Given the description of an element on the screen output the (x, y) to click on. 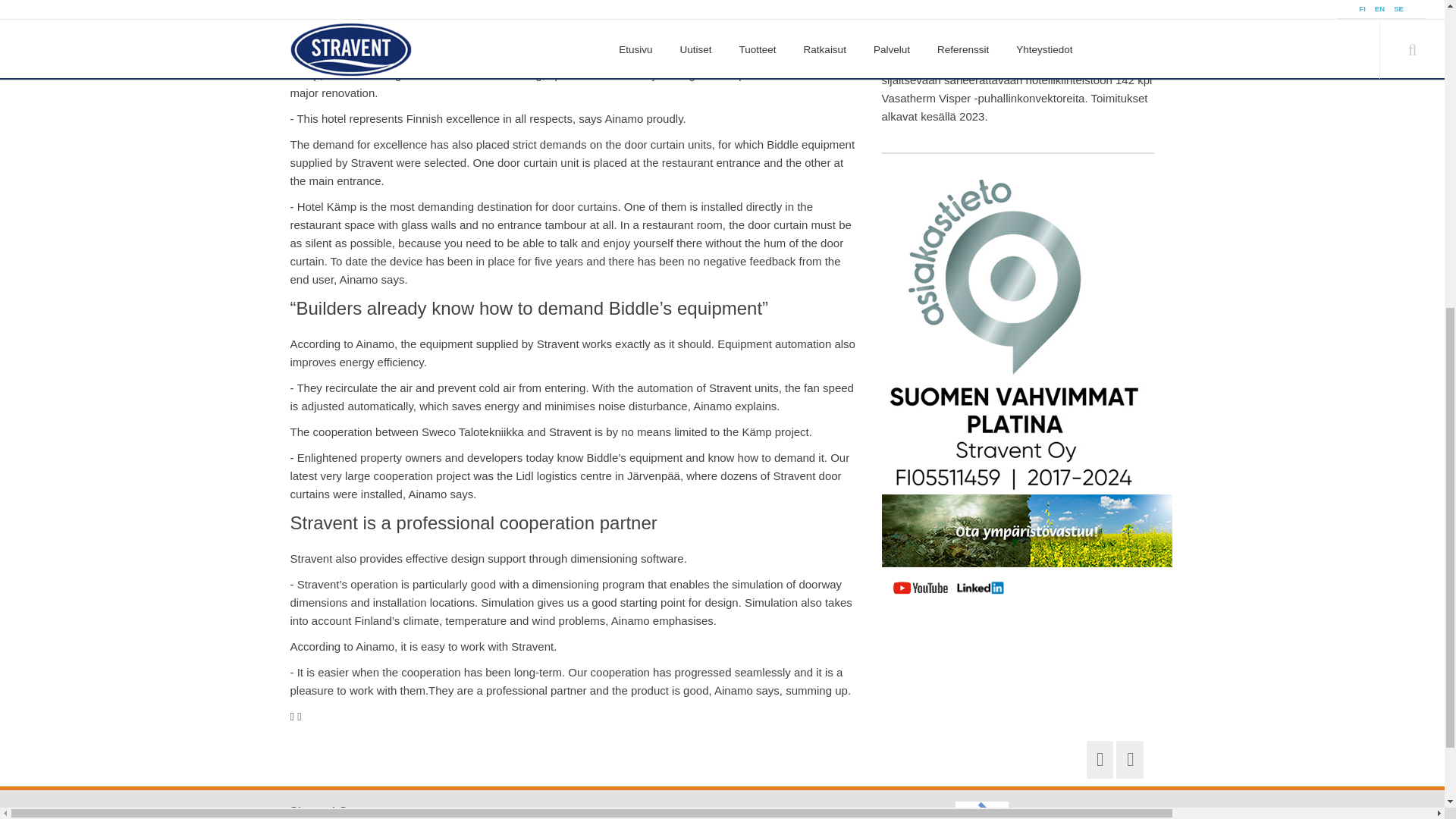
Leadoo botin modaalilaukaisin (1313, 47)
Leadoo botin valintalaukaisin (1318, 146)
